Given the description of an element on the screen output the (x, y) to click on. 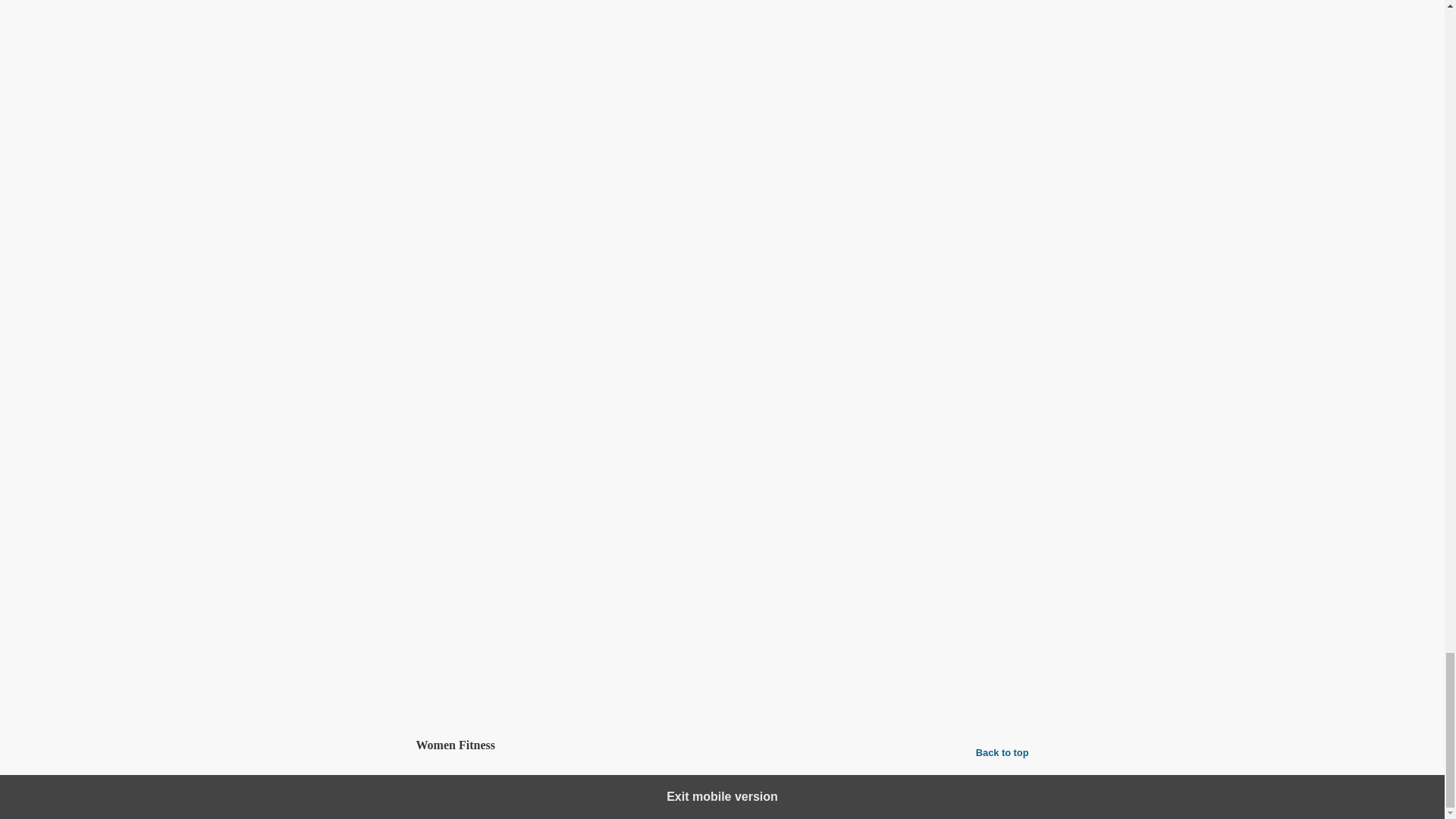
Back to top (1002, 752)
Dance Workout (480, 694)
www.TarynTFrancis.com (476, 585)
